Given the description of an element on the screen output the (x, y) to click on. 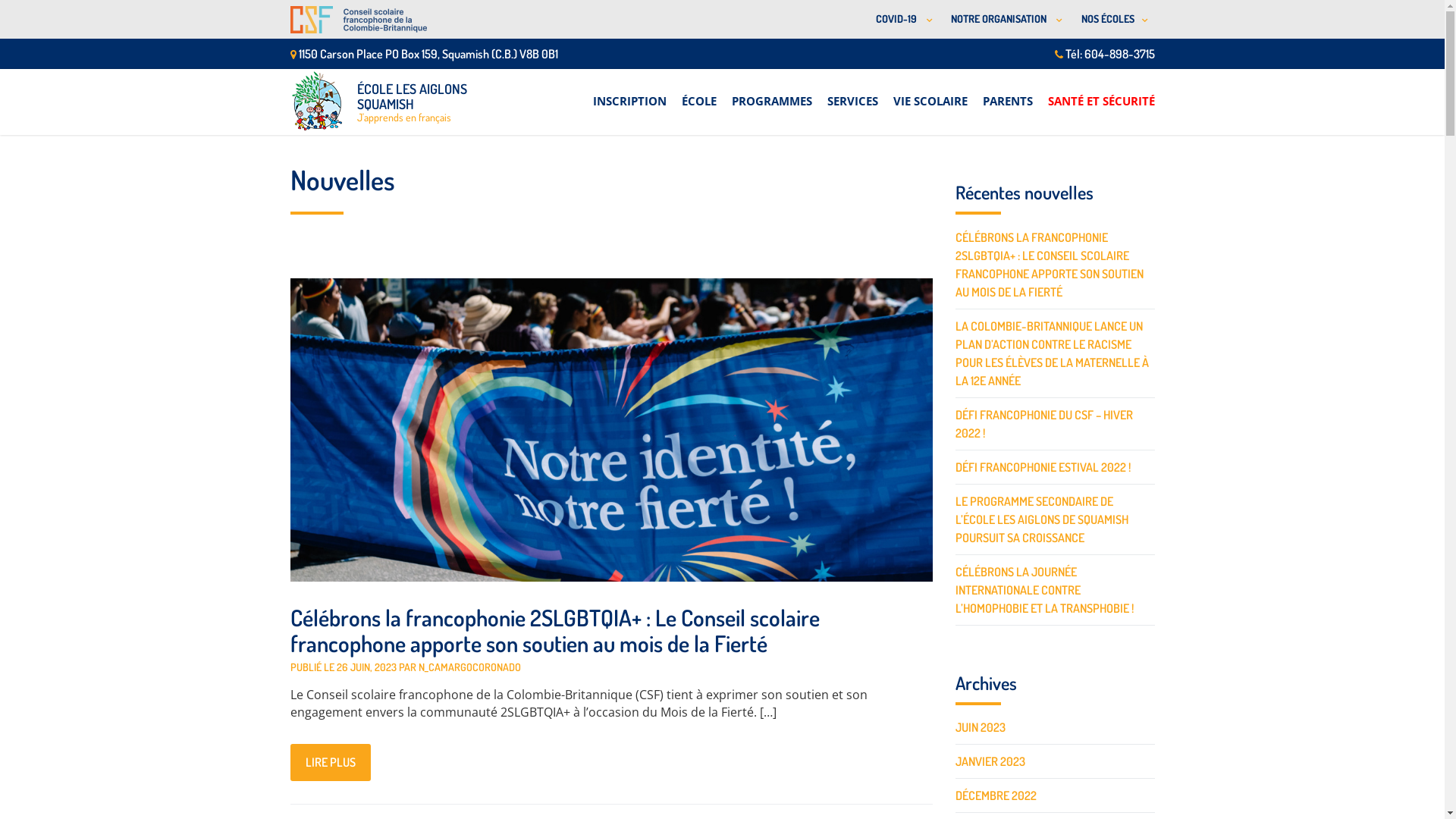
JANVIER 2023 Element type: text (990, 760)
COVID-19  Element type: text (900, 19)
VIE SCOLAIRE Element type: text (930, 92)
PARENTS Element type: text (1007, 92)
NOTRE ORGANISATION  Element type: text (1004, 19)
JUIN 2023 Element type: text (980, 726)
N_CAMARGOCORONADO Element type: text (469, 666)
PROGRAMMES Element type: text (771, 92)
SERVICES Element type: text (851, 92)
LIRE PLUS Element type: text (329, 762)
INSCRIPTION Element type: text (629, 92)
